Given the description of an element on the screen output the (x, y) to click on. 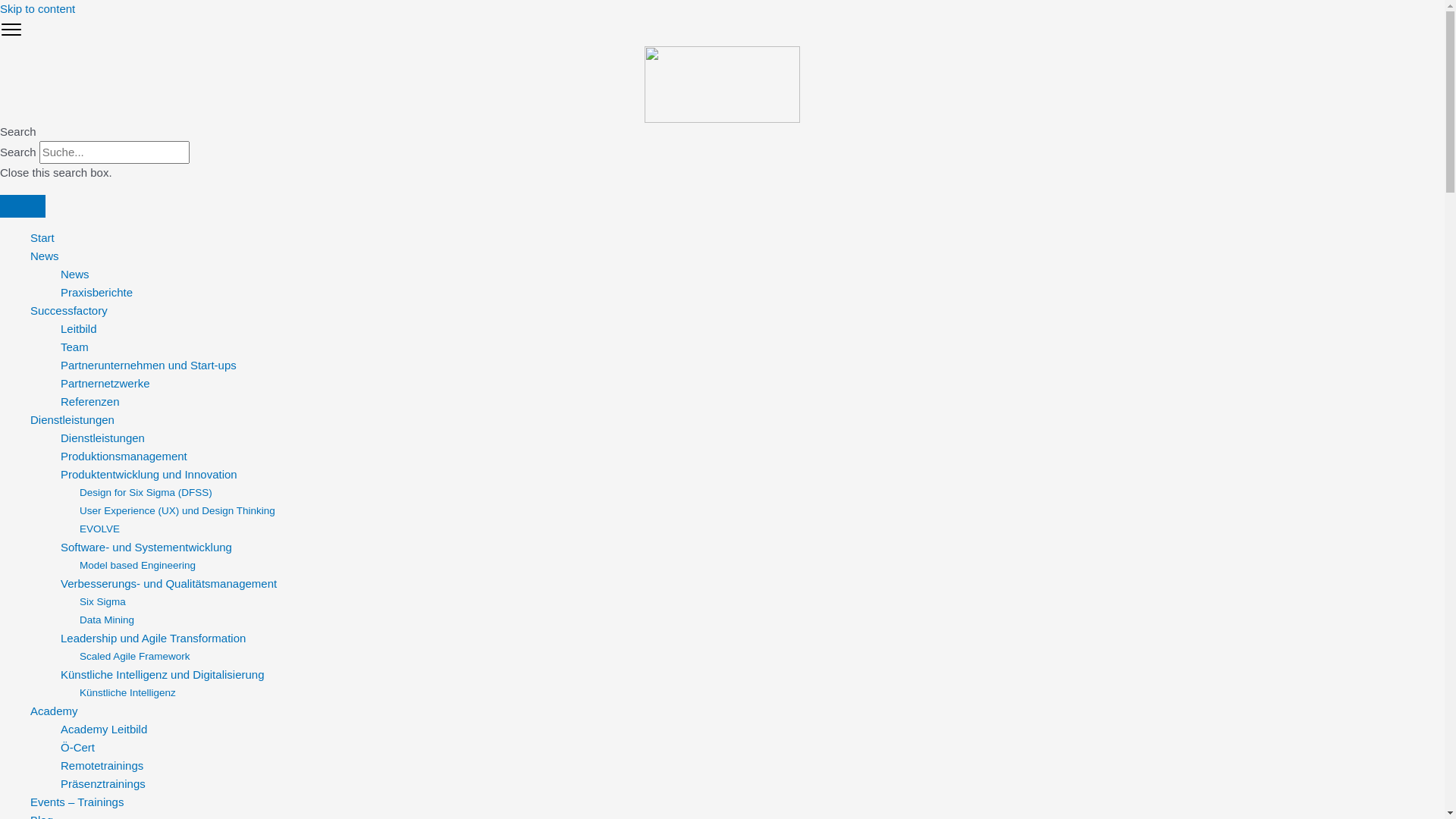
News Element type: text (44, 255)
Scaled Agile Framework Element type: text (134, 656)
Partnernetzwerke Element type: text (105, 382)
Academy Leitbild Element type: text (103, 728)
News Element type: text (74, 273)
Six Sigma Element type: text (102, 601)
Referenzen Element type: text (89, 401)
User Experience (UX) und Design Thinking Element type: text (177, 510)
Praxisberichte Element type: text (96, 291)
Team Element type: text (74, 346)
Successfactory Element type: text (68, 310)
Produktentwicklung und Innovation Element type: text (148, 473)
Model based Engineering Element type: text (137, 565)
Leadership und Agile Transformation Element type: text (152, 637)
Produktionsmanagement Element type: text (123, 455)
Academy Element type: text (54, 710)
Partnerunternehmen und Start-ups Element type: text (148, 364)
Software- und Systementwicklung Element type: text (146, 546)
Start Element type: text (42, 237)
Data Mining Element type: text (106, 619)
Skip to content Element type: text (37, 8)
Dienstleistungen Element type: text (102, 437)
Design for Six Sigma (DFSS) Element type: text (145, 492)
Leitbild Element type: text (78, 328)
Dienstleistungen Element type: text (72, 419)
Remotetrainings Element type: text (101, 765)
EVOLVE Element type: text (99, 528)
